Given the description of an element on the screen output the (x, y) to click on. 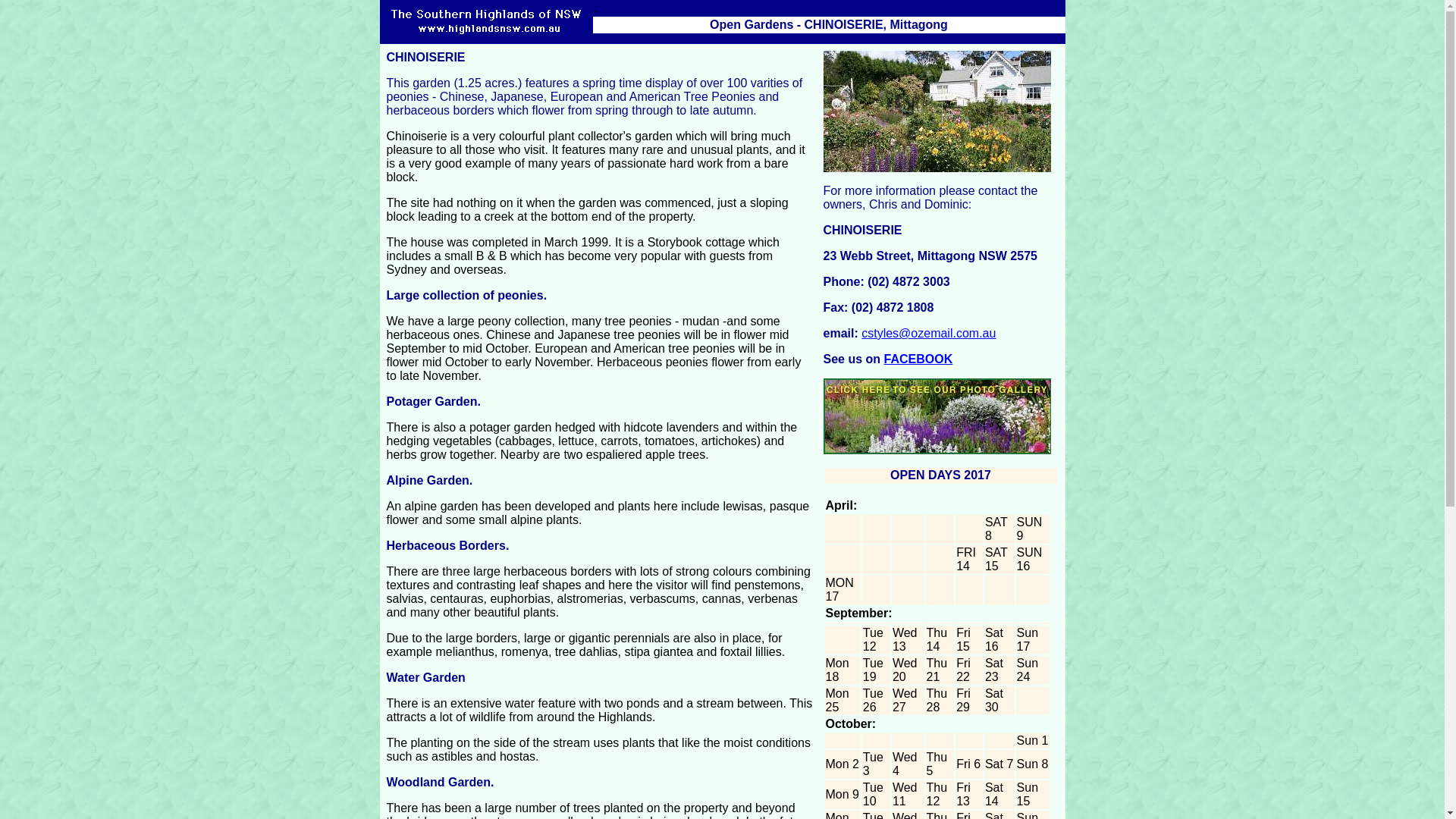
cstyles@ozemail.com.au Element type: text (928, 332)
FACEBOOK Element type: text (918, 358)
